Given the description of an element on the screen output the (x, y) to click on. 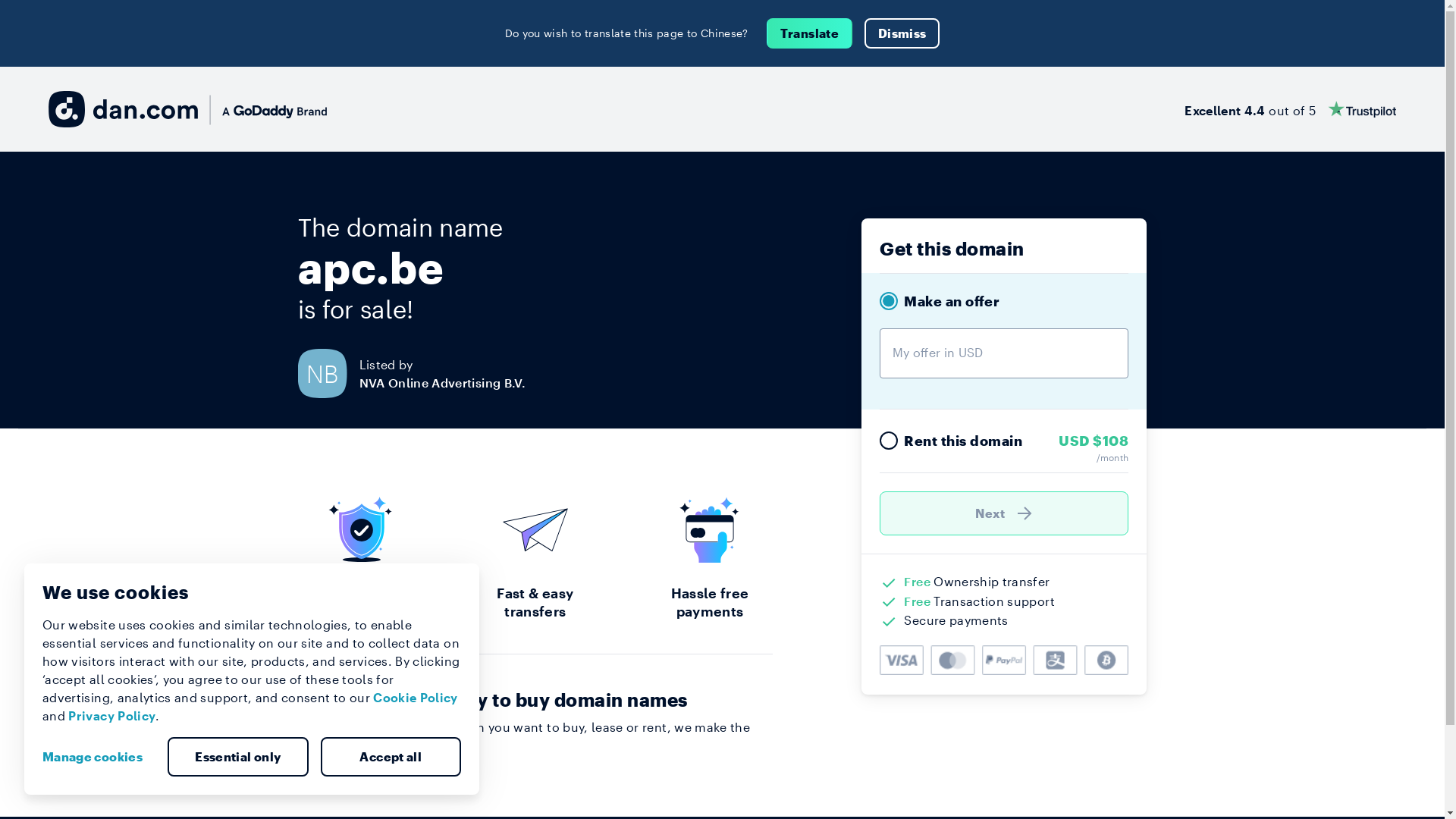
Translate Element type: text (809, 33)
Next
) Element type: text (1003, 513)
Cookie Policy Element type: text (415, 697)
Privacy Policy Element type: text (111, 715)
Accept all Element type: text (390, 756)
Manage cookies Element type: text (98, 756)
Excellent 4.4 out of 5 Element type: text (1290, 109)
Essential only Element type: text (237, 756)
Dismiss Element type: text (901, 33)
